Given the description of an element on the screen output the (x, y) to click on. 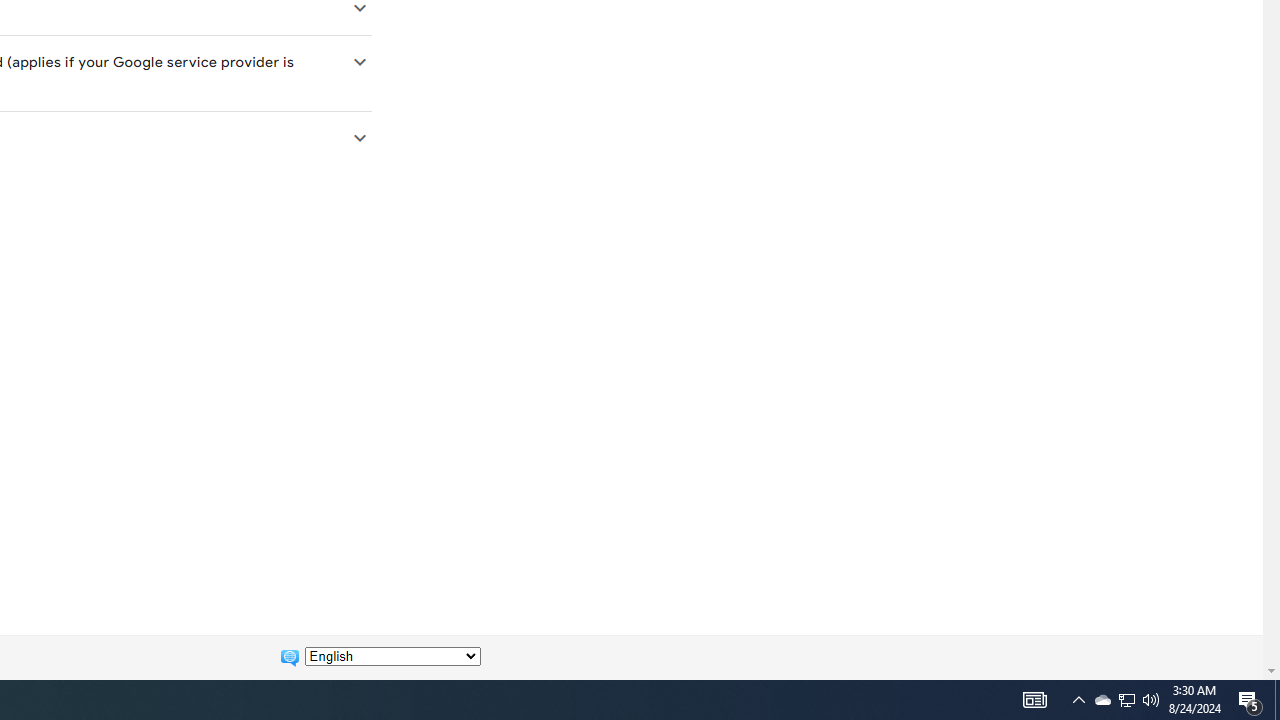
Change language: (392, 656)
